Given the description of an element on the screen output the (x, y) to click on. 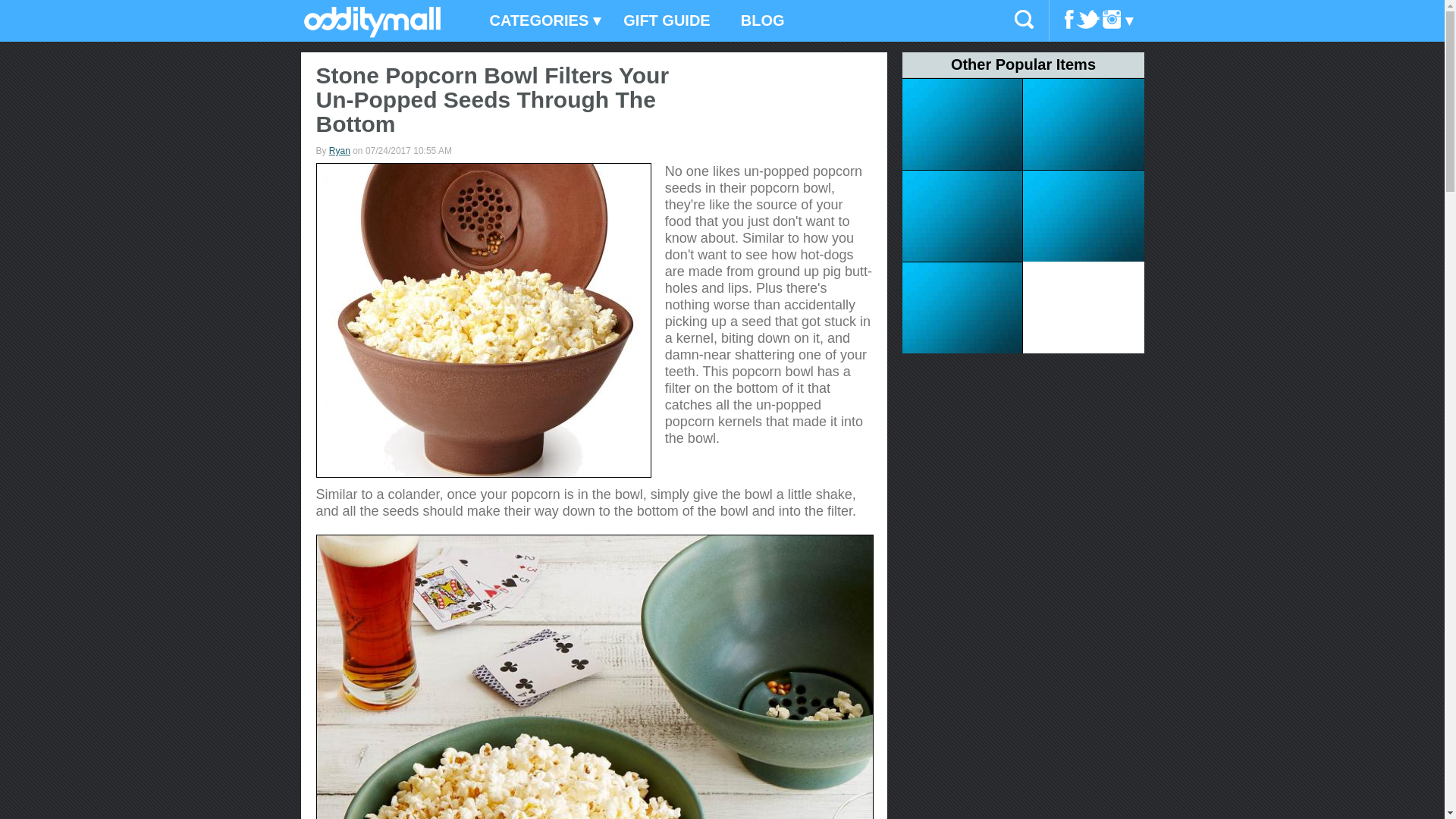
Ryan (339, 150)
Unique Gifts - Unusual Gift Ideas (371, 32)
BLOG (762, 20)
GIFT GUIDE (666, 20)
CATEGORIES (541, 20)
